Given the description of an element on the screen output the (x, y) to click on. 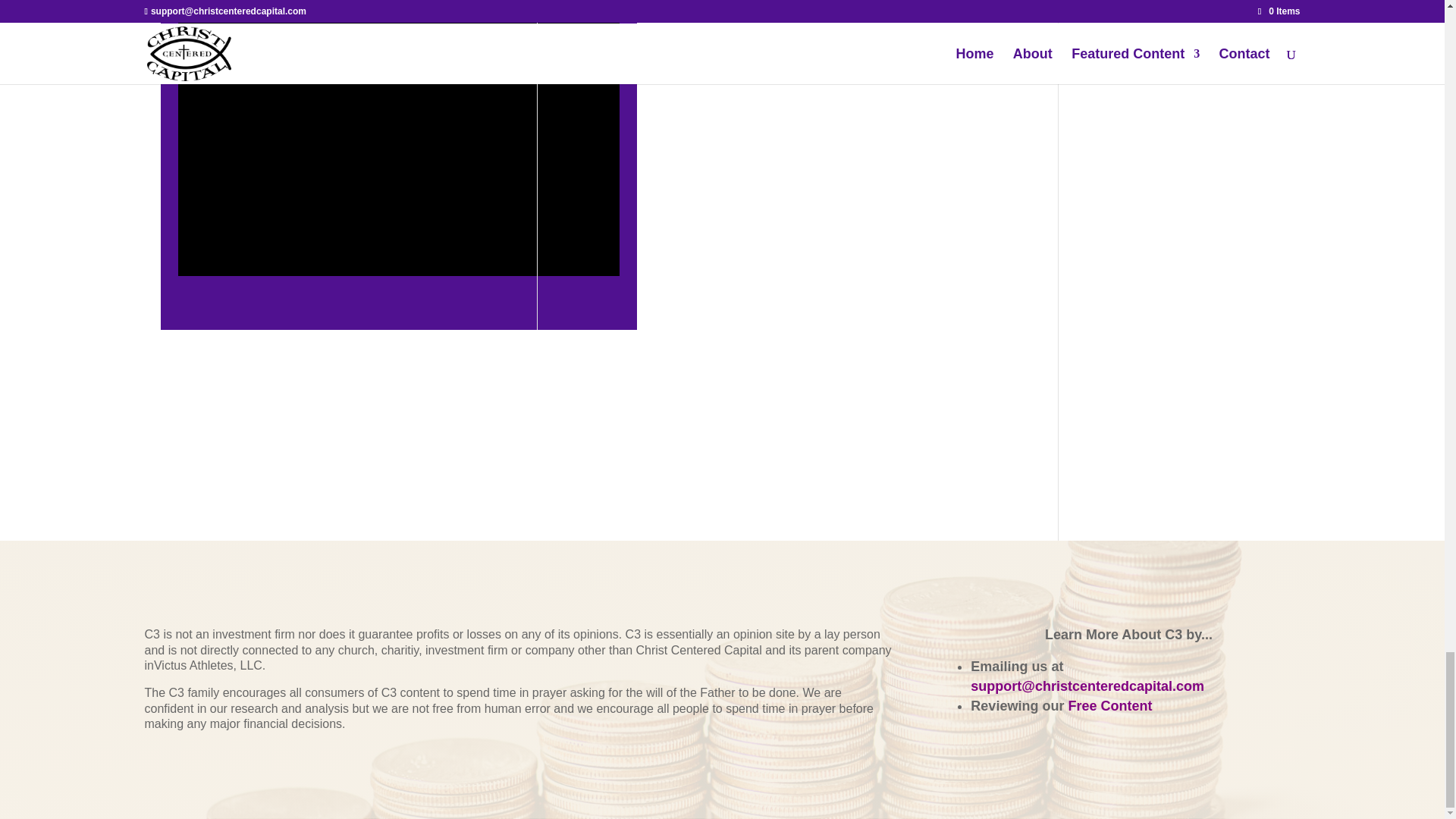
Free Content (1109, 705)
